Given the description of an element on the screen output the (x, y) to click on. 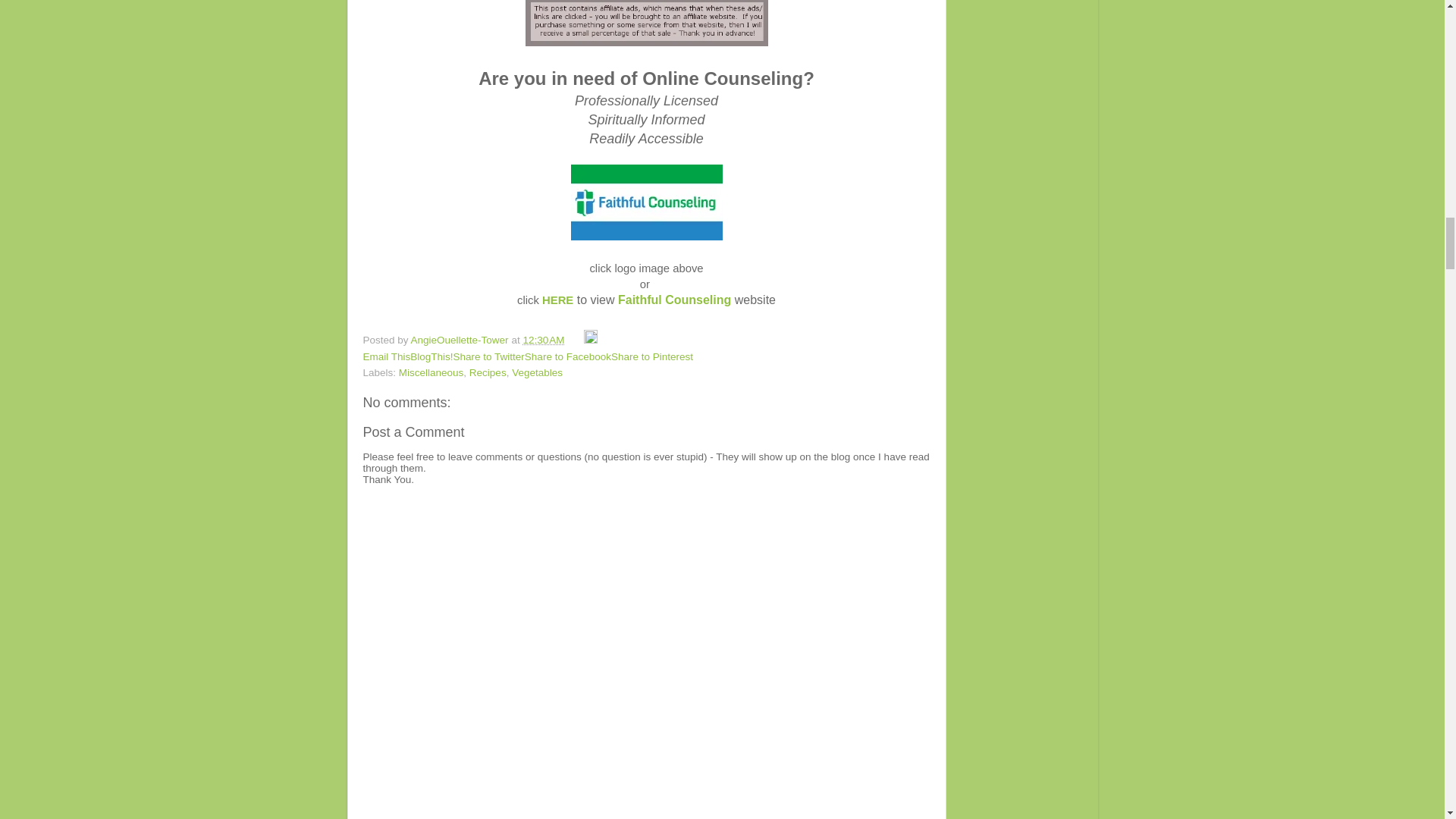
Share to Twitter (488, 356)
author profile (461, 339)
Share to Pinterest (652, 356)
HERE (557, 300)
Edit Post (589, 339)
Share to Facebook (567, 356)
Email This (386, 356)
Email This (386, 356)
Share to Twitter (488, 356)
BlogThis! (431, 356)
Email Post (575, 339)
Share to Facebook (567, 356)
Miscellaneous (431, 372)
Share to Pinterest (652, 356)
